Given the description of an element on the screen output the (x, y) to click on. 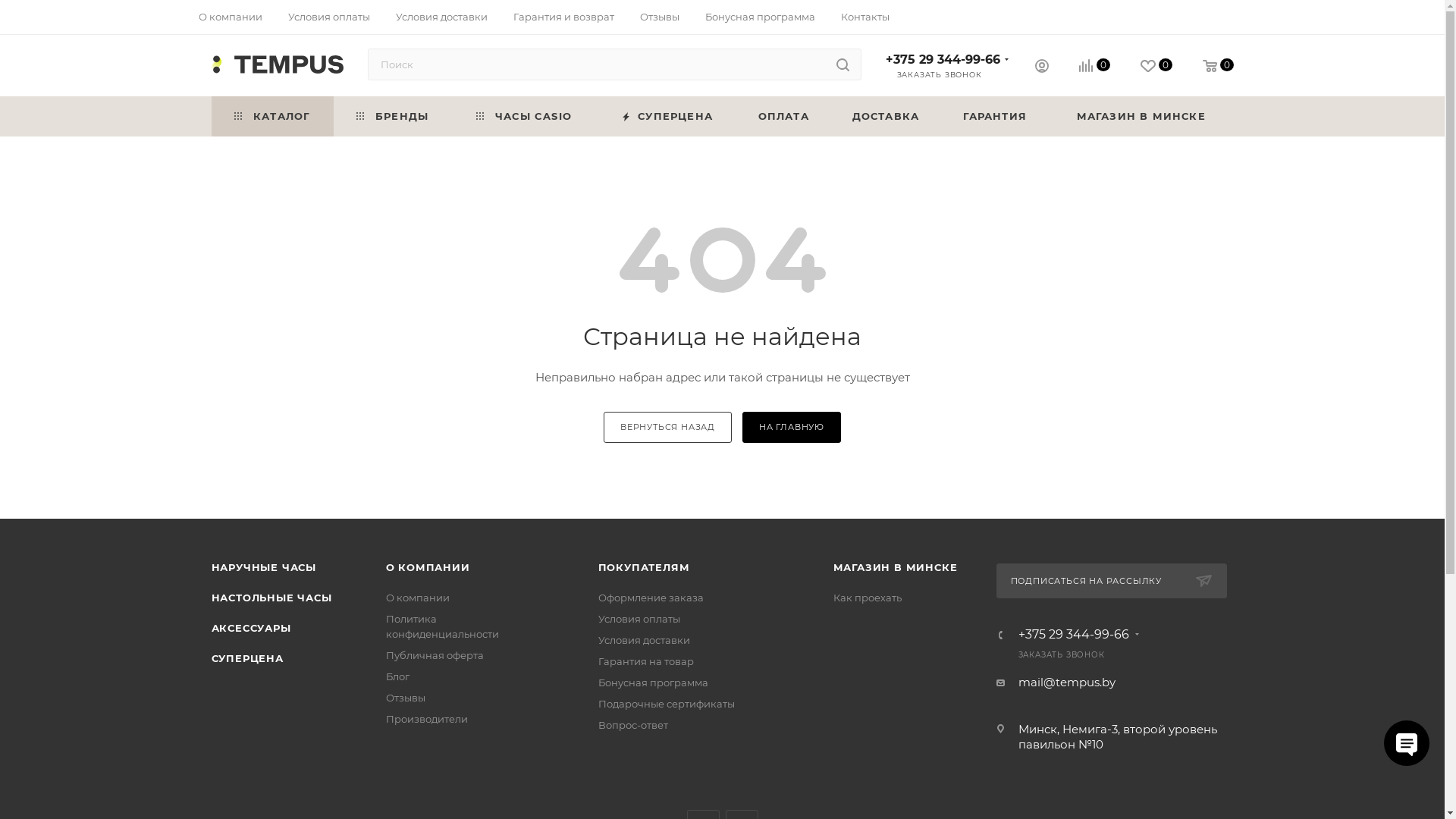
mail@tempus.by Element type: text (1065, 682)
0 Element type: text (1093, 66)
+375 29 344-99-66 Element type: text (942, 58)
0 Element type: text (1156, 66)
+375 29 344-99-66 Element type: text (1072, 634)
0 Element type: text (1217, 66)
